Given the description of an element on the screen output the (x, y) to click on. 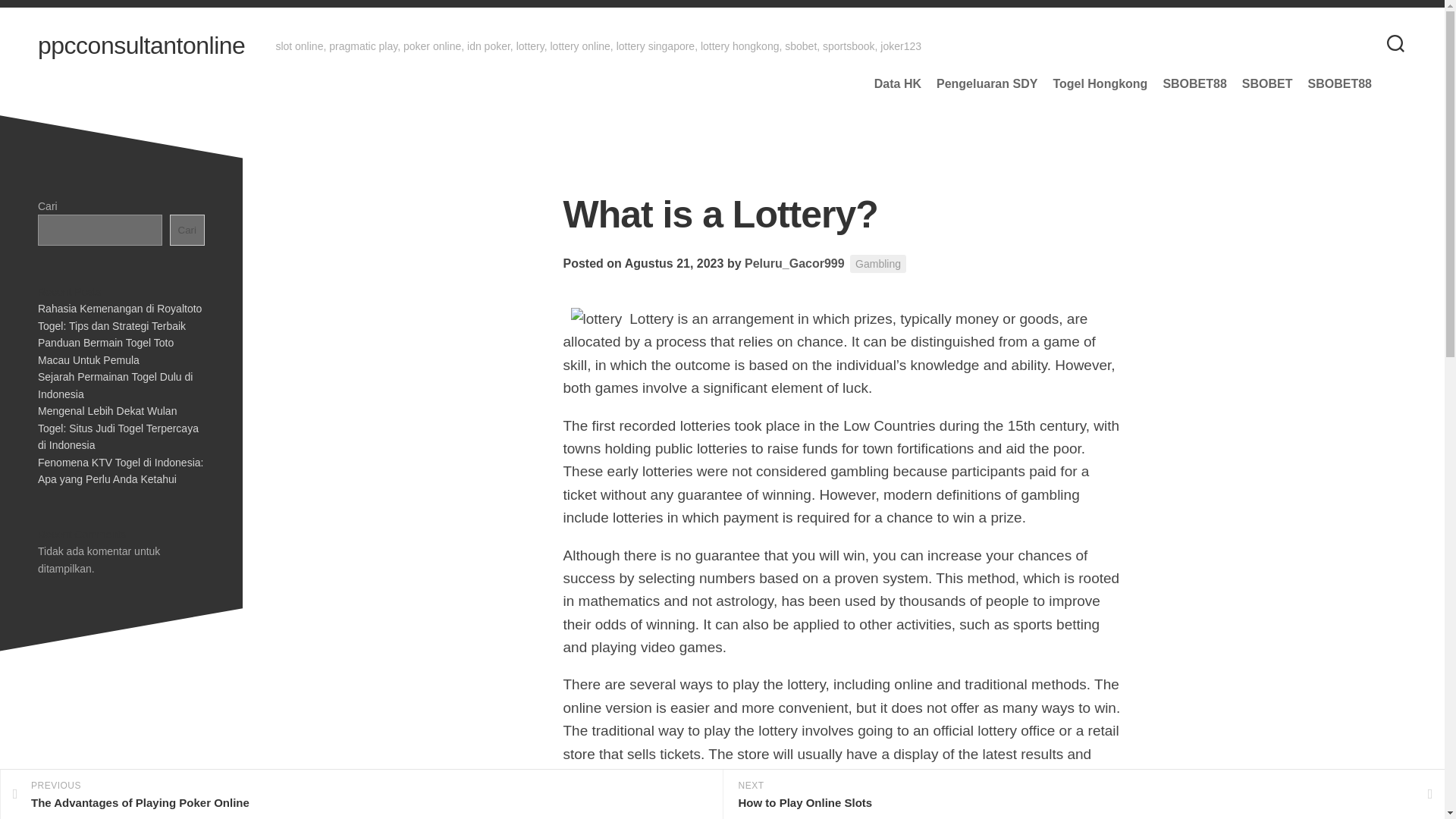
Gambling (877, 263)
Togel Hongkong (1099, 83)
Cari (361, 794)
Data HK (187, 229)
Sejarah Permainan Togel Dulu di Indonesia (898, 83)
SBOBET (114, 385)
Pengeluaran SDY (1266, 83)
SBOBET88 (986, 83)
